Given the description of an element on the screen output the (x, y) to click on. 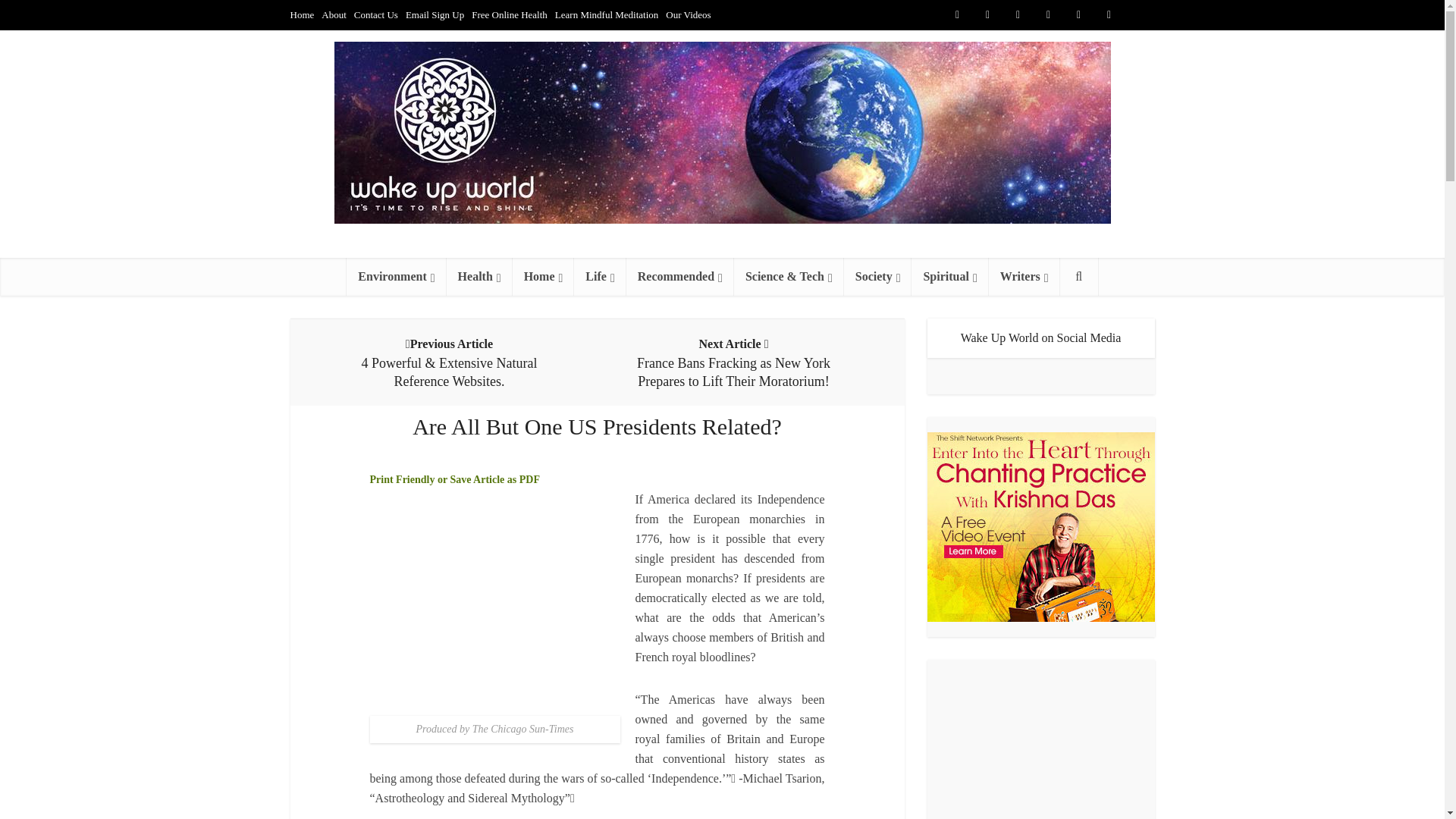
Email Sign Up (435, 14)
About (333, 14)
Telegram (1139, 15)
Health (479, 276)
Contact Us (375, 14)
Free Online Health (509, 14)
Environment (395, 276)
Articles recommended by WuW (679, 276)
Learn Mindful Meditation (606, 14)
